Given the description of an element on the screen output the (x, y) to click on. 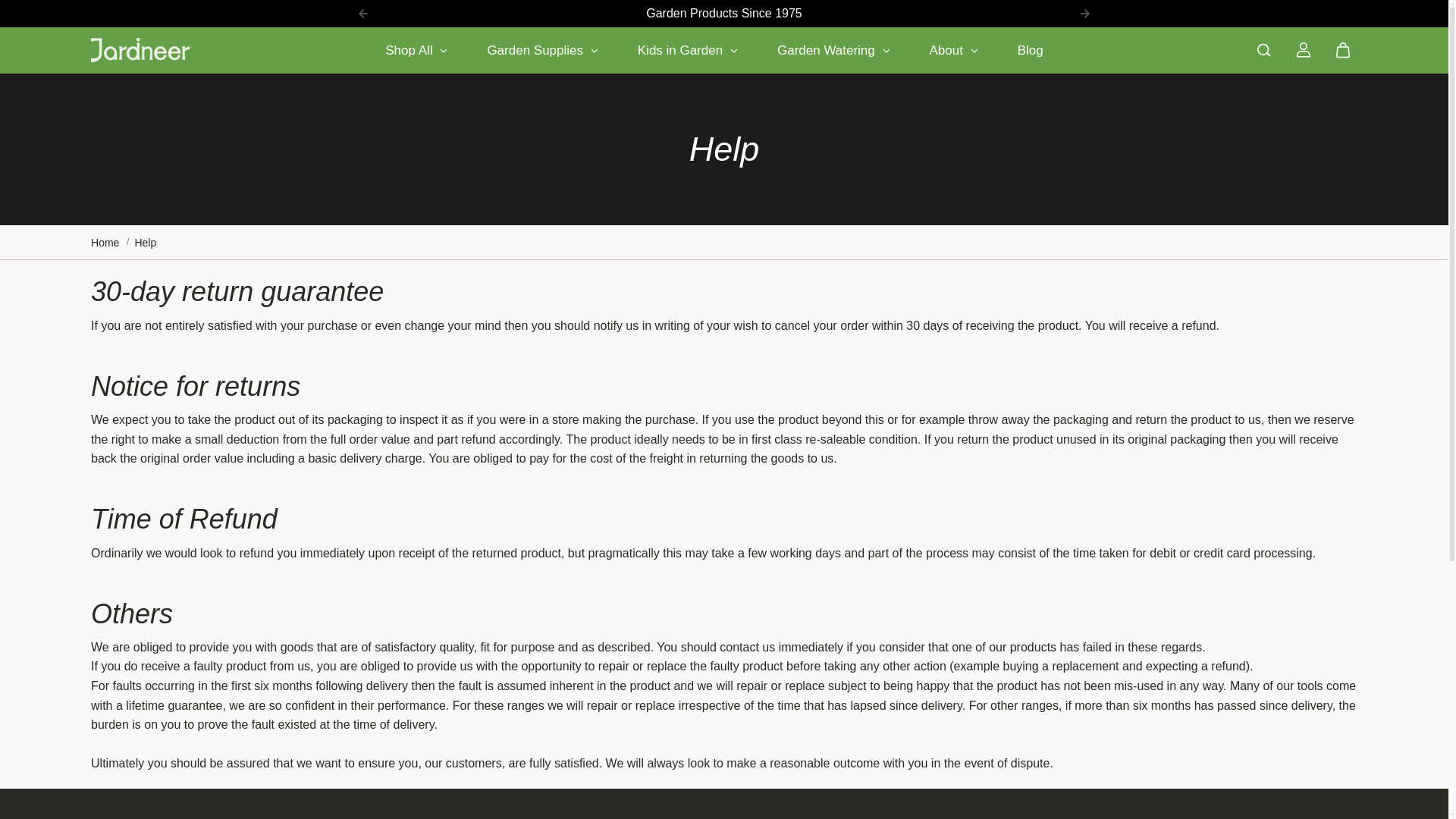
Log in (1302, 50)
Garden Supplies (542, 50)
About (953, 50)
Skip to content (64, 18)
Home (104, 242)
Kids in Garden (687, 50)
Search (1263, 50)
Shop All (415, 50)
Garden Watering (834, 50)
